Given the description of an element on the screen output the (x, y) to click on. 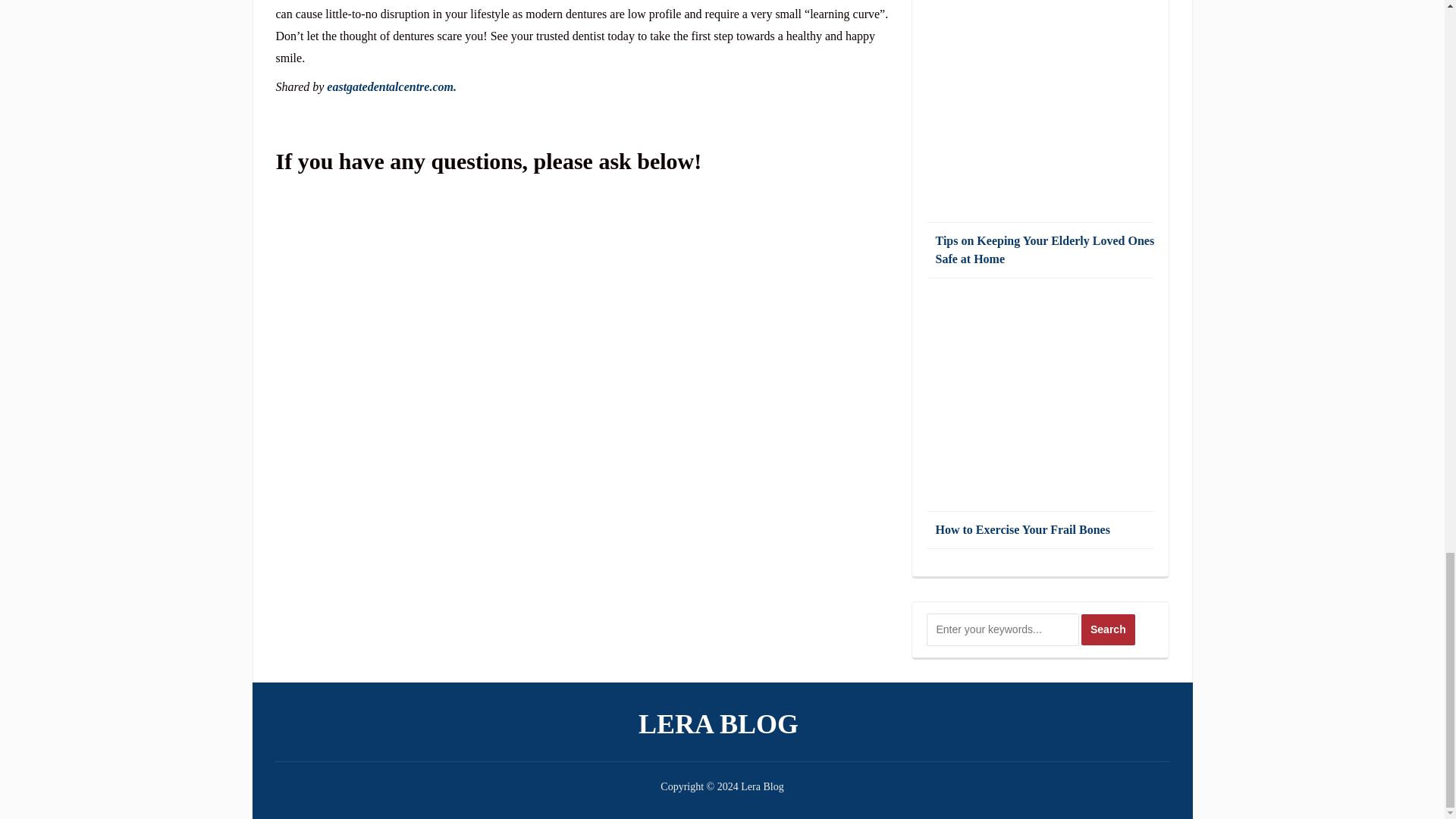
Search (1108, 629)
Search (1108, 629)
